Given the description of an element on the screen output the (x, y) to click on. 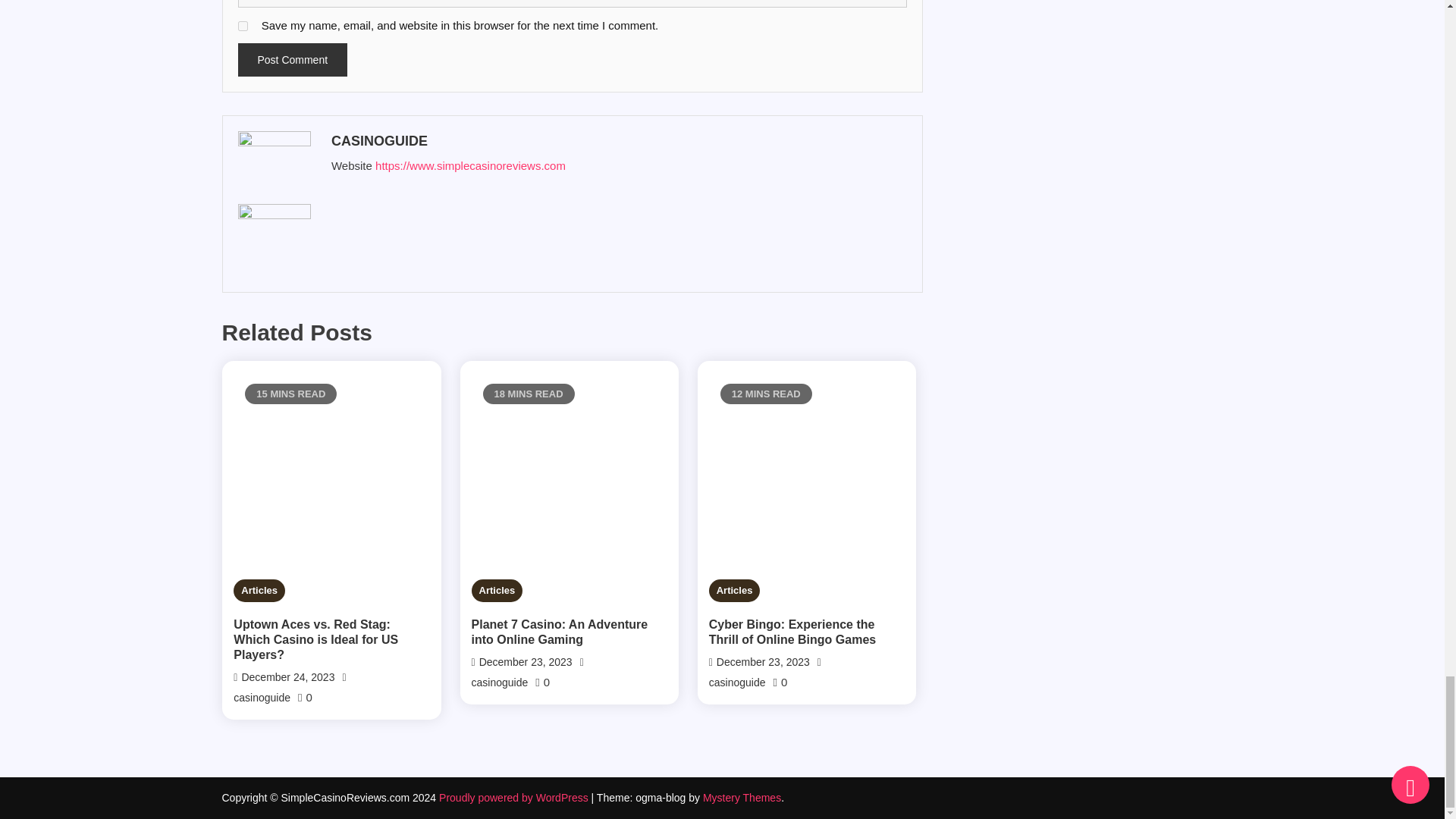
yes (242, 26)
Posts by casinoguide (615, 141)
Post Comment (292, 59)
